Given the description of an element on the screen output the (x, y) to click on. 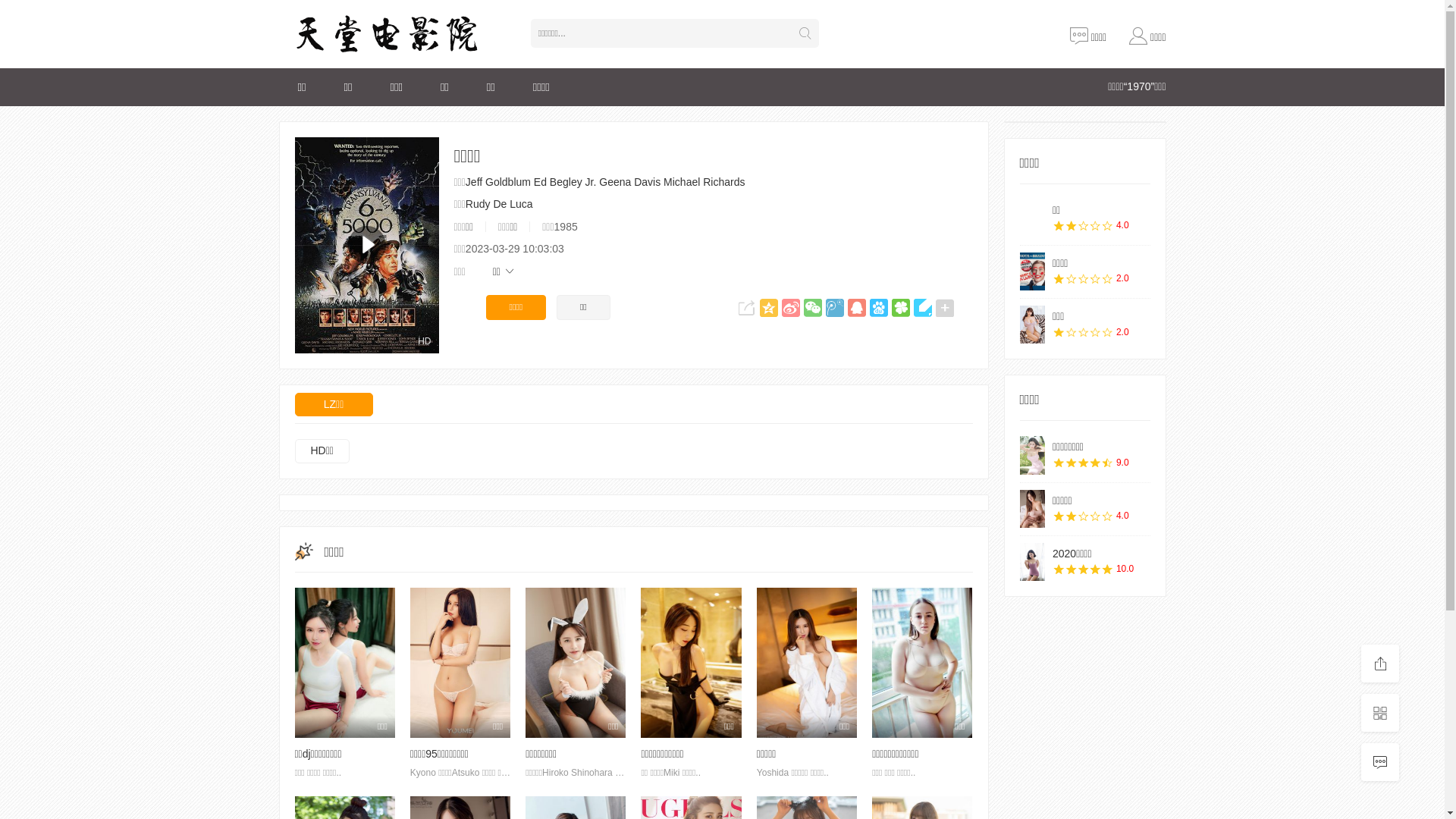
HD Element type: text (366, 245)
Ed Begley Jr. Element type: text (564, 181)
Rudy De Luca Element type: text (499, 203)
Jeff Goldblum Element type: text (497, 181)
Michael Richards Element type: text (703, 181)
Geena Davis Element type: text (629, 181)
